Given the description of an element on the screen output the (x, y) to click on. 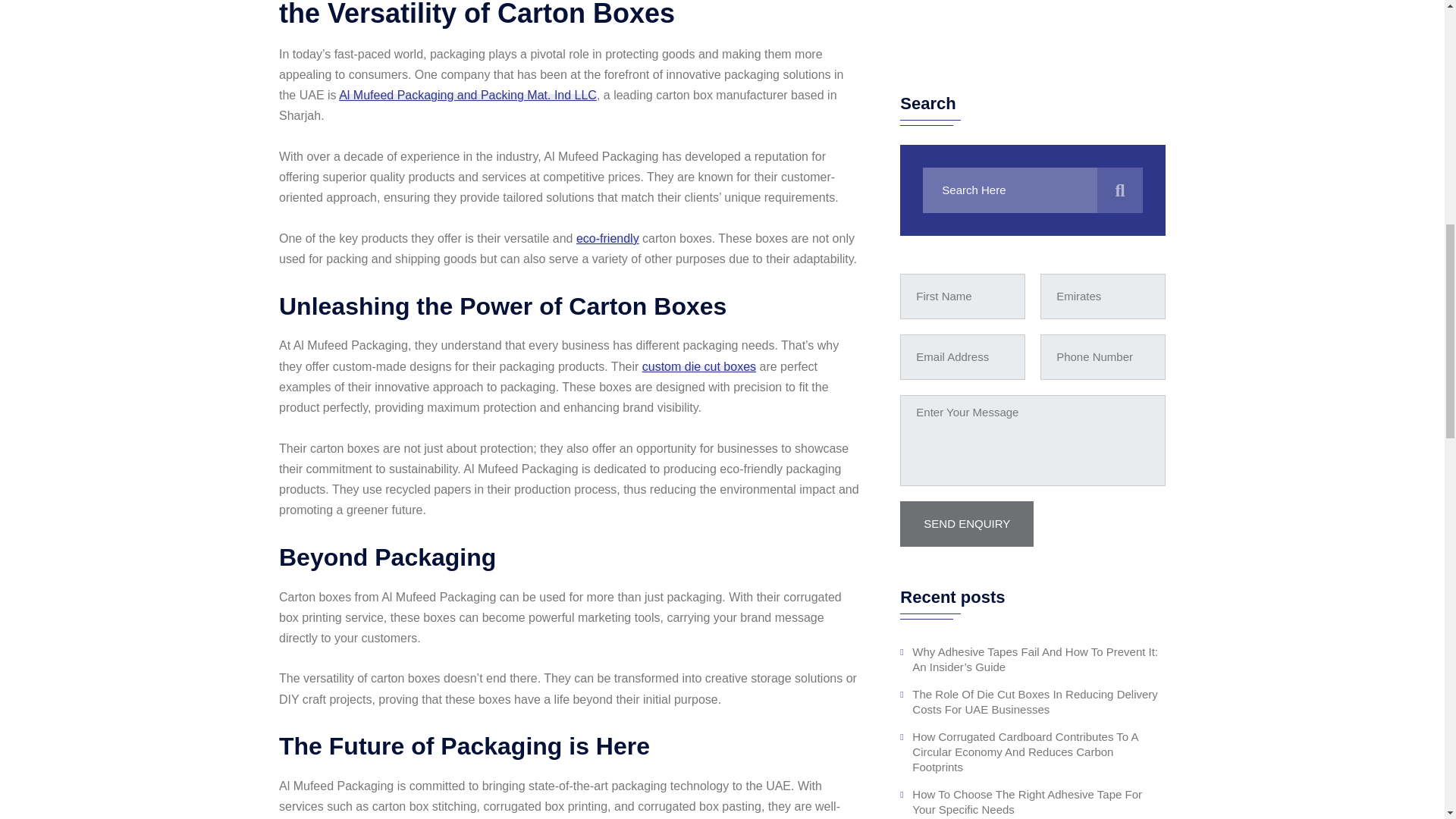
Al Mufeed Packaging and Packing Mat. Ind LLC (467, 94)
custom die cut boxes (698, 366)
eco-friendly (607, 237)
SEND ENQUIRY (966, 33)
SEND ENQUIRY (966, 33)
